Given the description of an element on the screen output the (x, y) to click on. 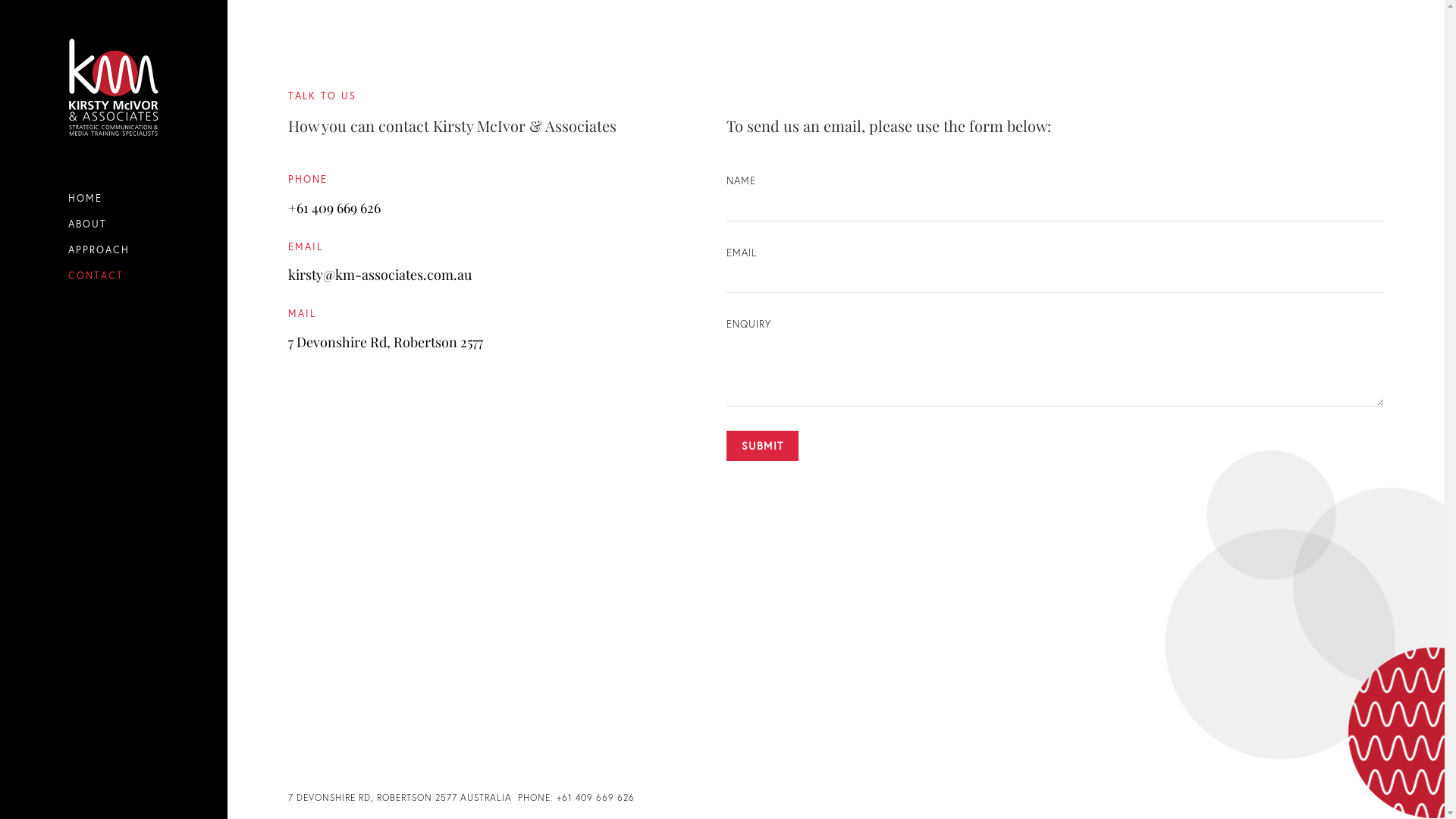
HOME Element type: text (113, 197)
APPROACH Element type: text (113, 249)
ABOUT Element type: text (113, 223)
CONTACT Element type: text (113, 275)
SUBMIT Element type: text (762, 445)
